Given the description of an element on the screen output the (x, y) to click on. 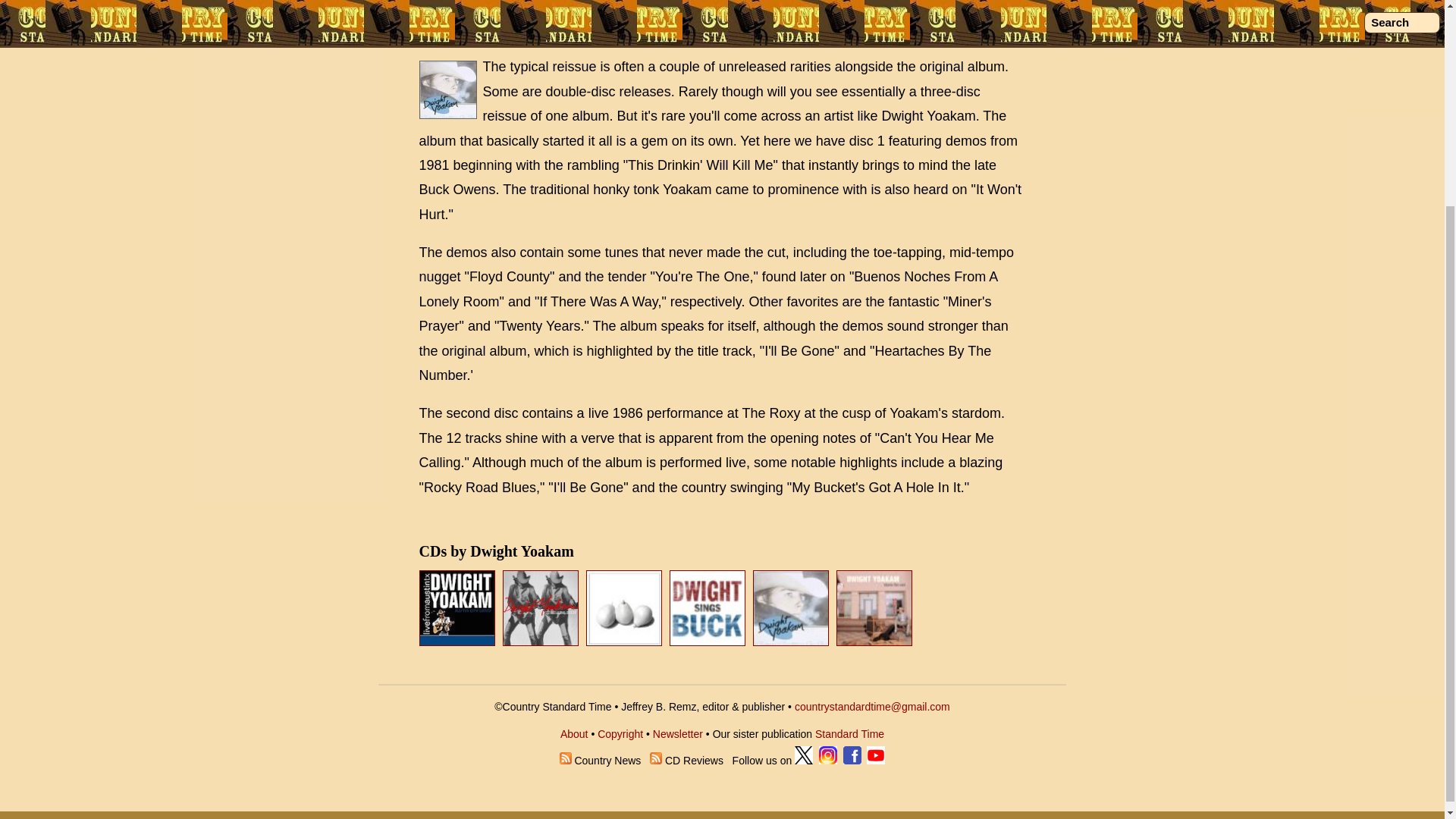
Facebook (852, 760)
Standard Time (849, 734)
3 Pears, 2012 (624, 608)
Guitars, Cadillacs, Etc., 2006 (790, 608)
YouTube (875, 760)
Blame the Vain, 2005 (875, 641)
3 Pears, 2012 (625, 641)
Newsletter (677, 734)
Second Hand Heart, 2015 (540, 608)
Live from Austin, TX;, 2017 (458, 641)
